Given the description of an element on the screen output the (x, y) to click on. 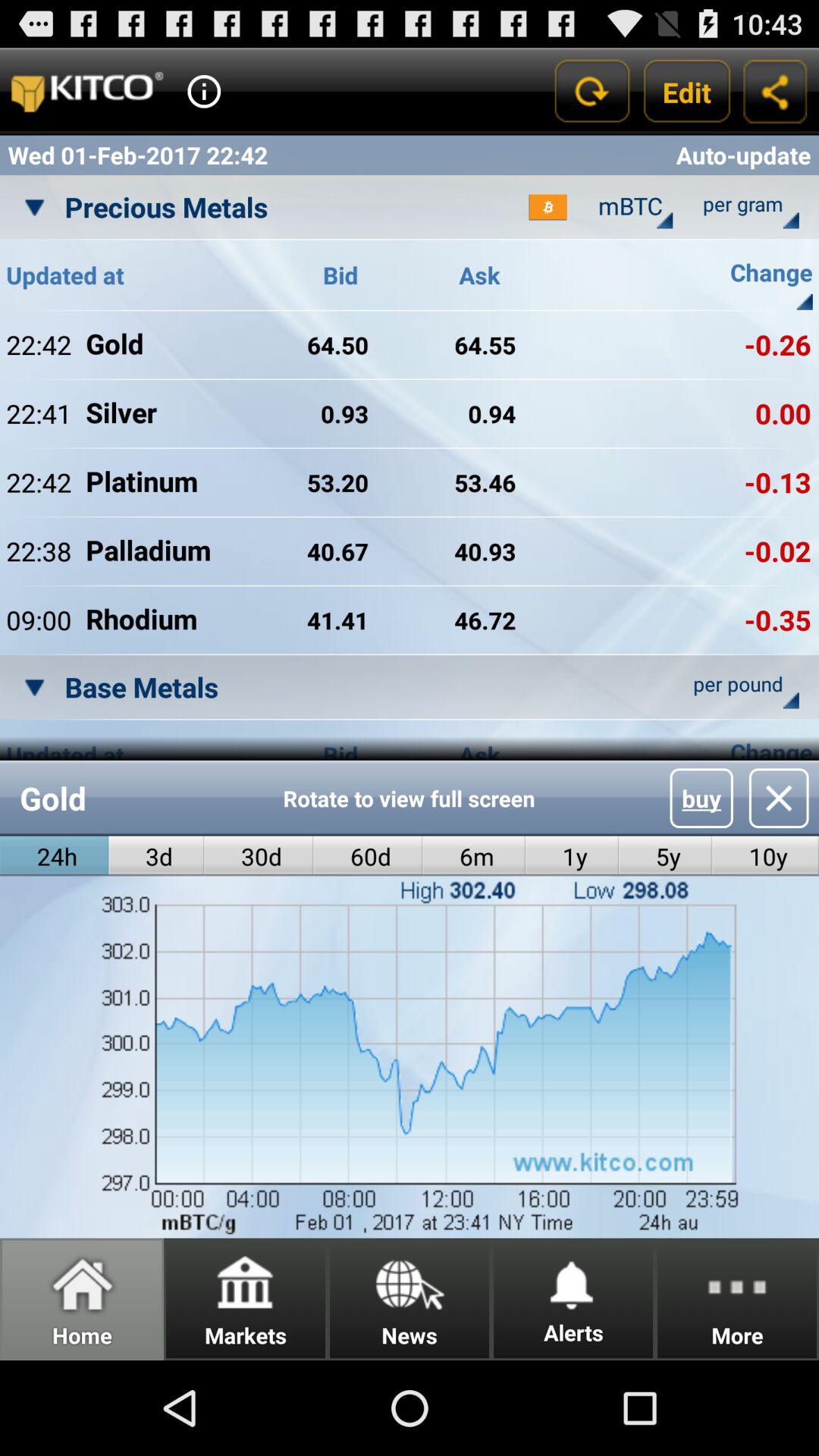
press the radio button next to the 1y radio button (665, 856)
